Given the description of an element on the screen output the (x, y) to click on. 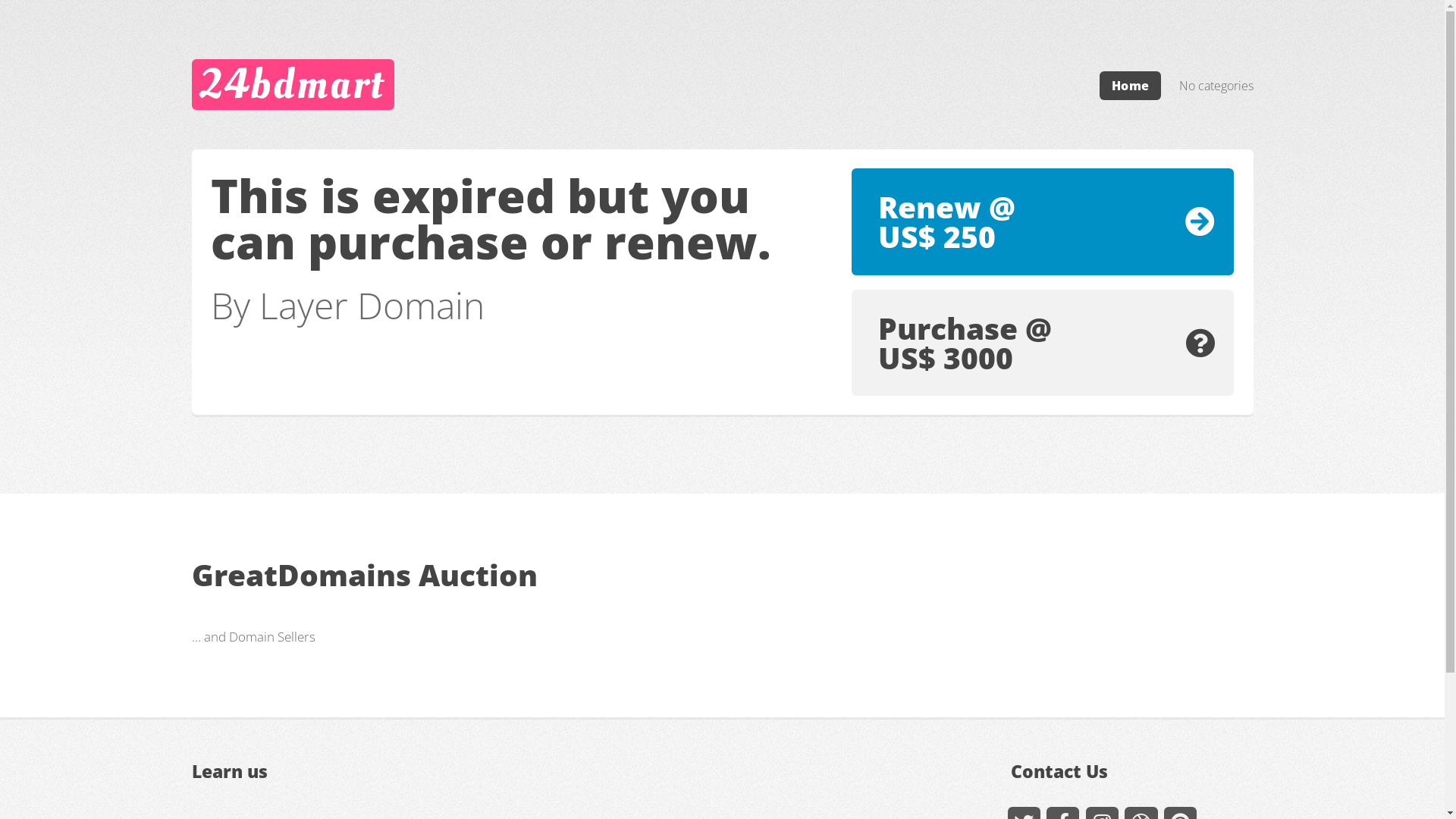
Purchase @
US$ 3000 Element type: text (1042, 342)
Renew @
US$ 250 Element type: text (1042, 221)
Home Element type: text (1130, 85)
24bdmart Element type: text (292, 83)
